Given the description of an element on the screen output the (x, y) to click on. 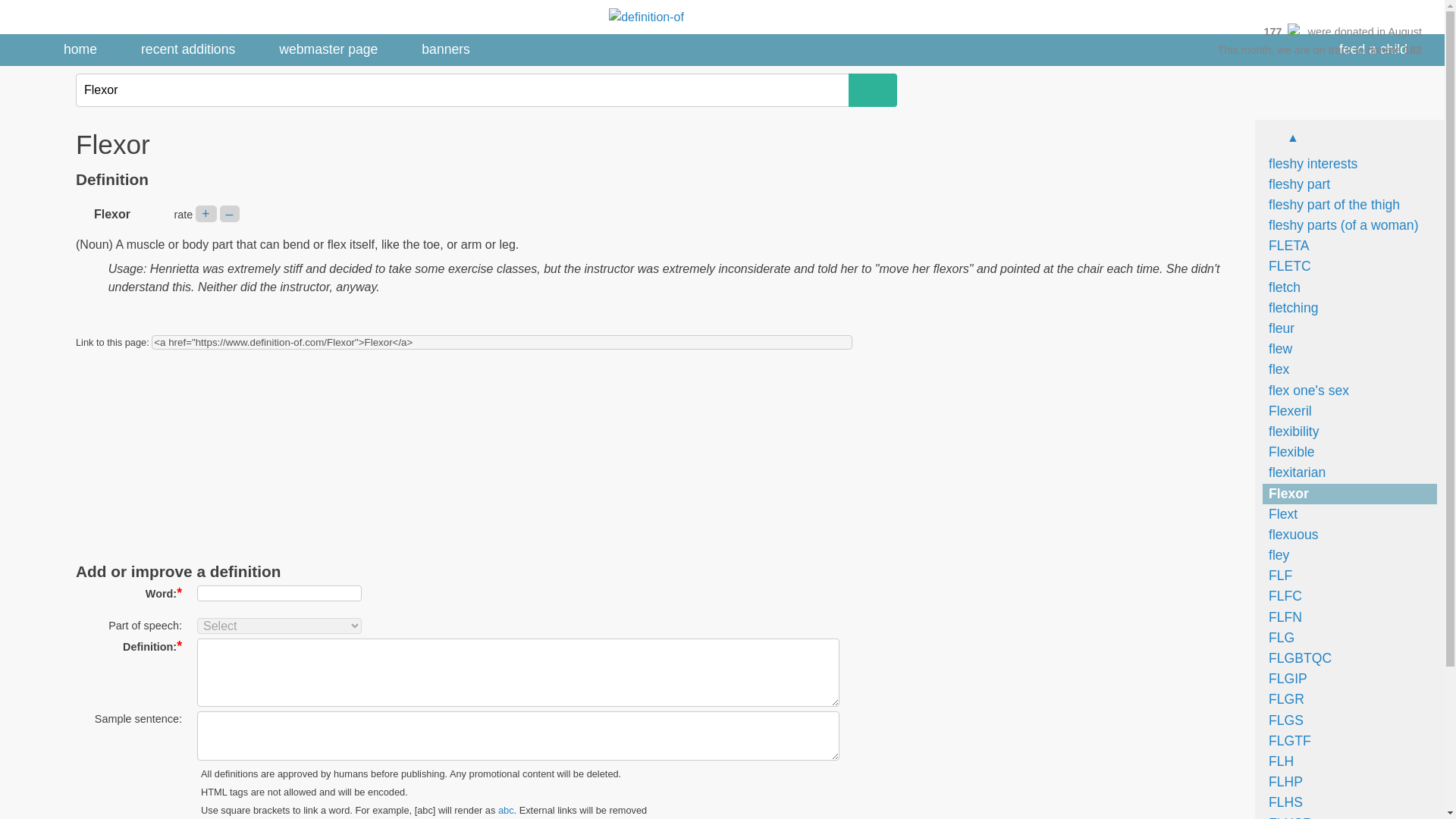
feed a child (1372, 49)
FLGIP (1284, 678)
abc (505, 809)
FLGBTQC (1297, 657)
FLF (1277, 575)
fletch (1281, 287)
Search (872, 90)
FLGS (1282, 720)
Flext (1279, 513)
FLFC (1281, 595)
